Given the description of an element on the screen output the (x, y) to click on. 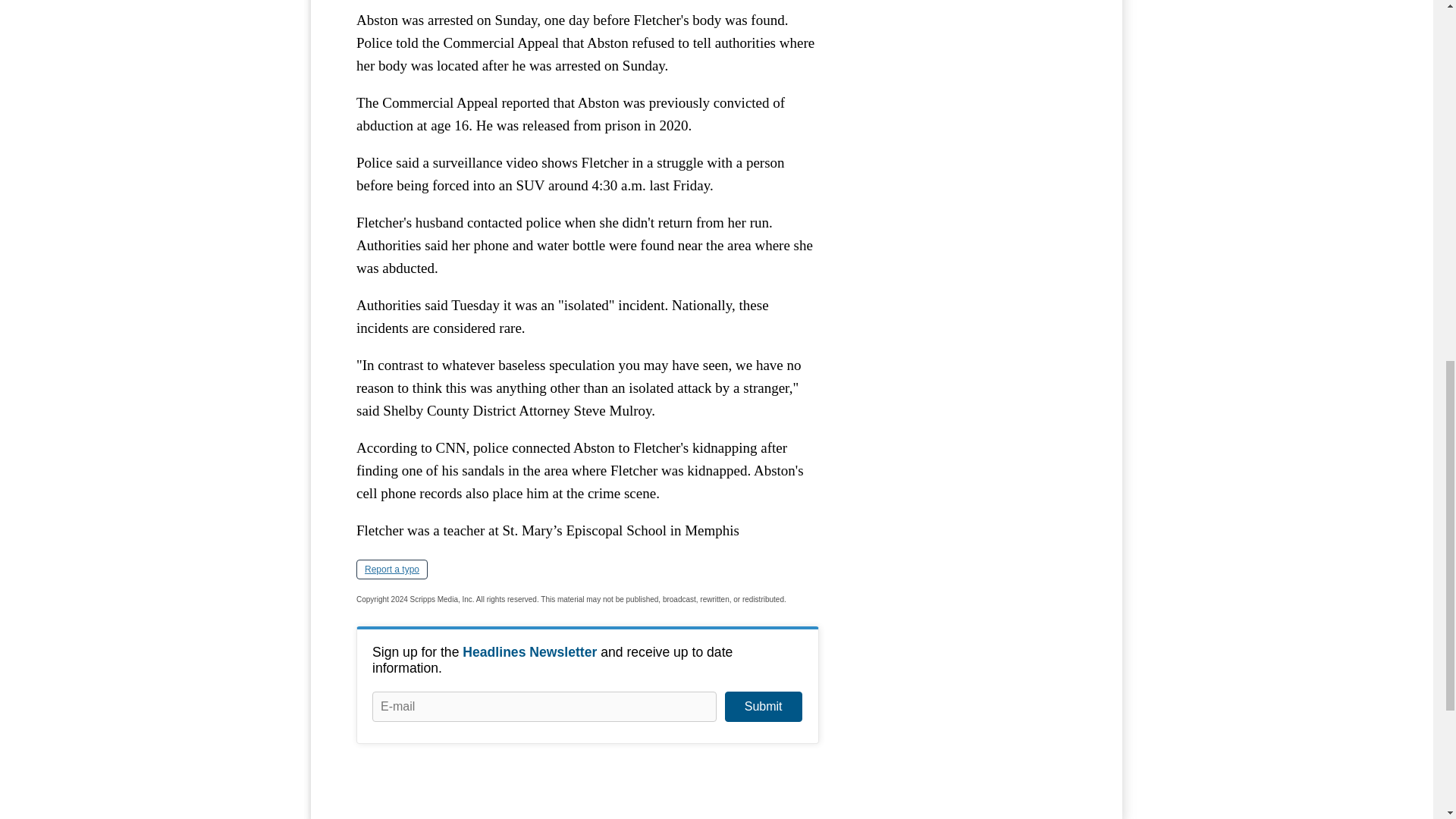
Submit (763, 706)
